Given the description of an element on the screen output the (x, y) to click on. 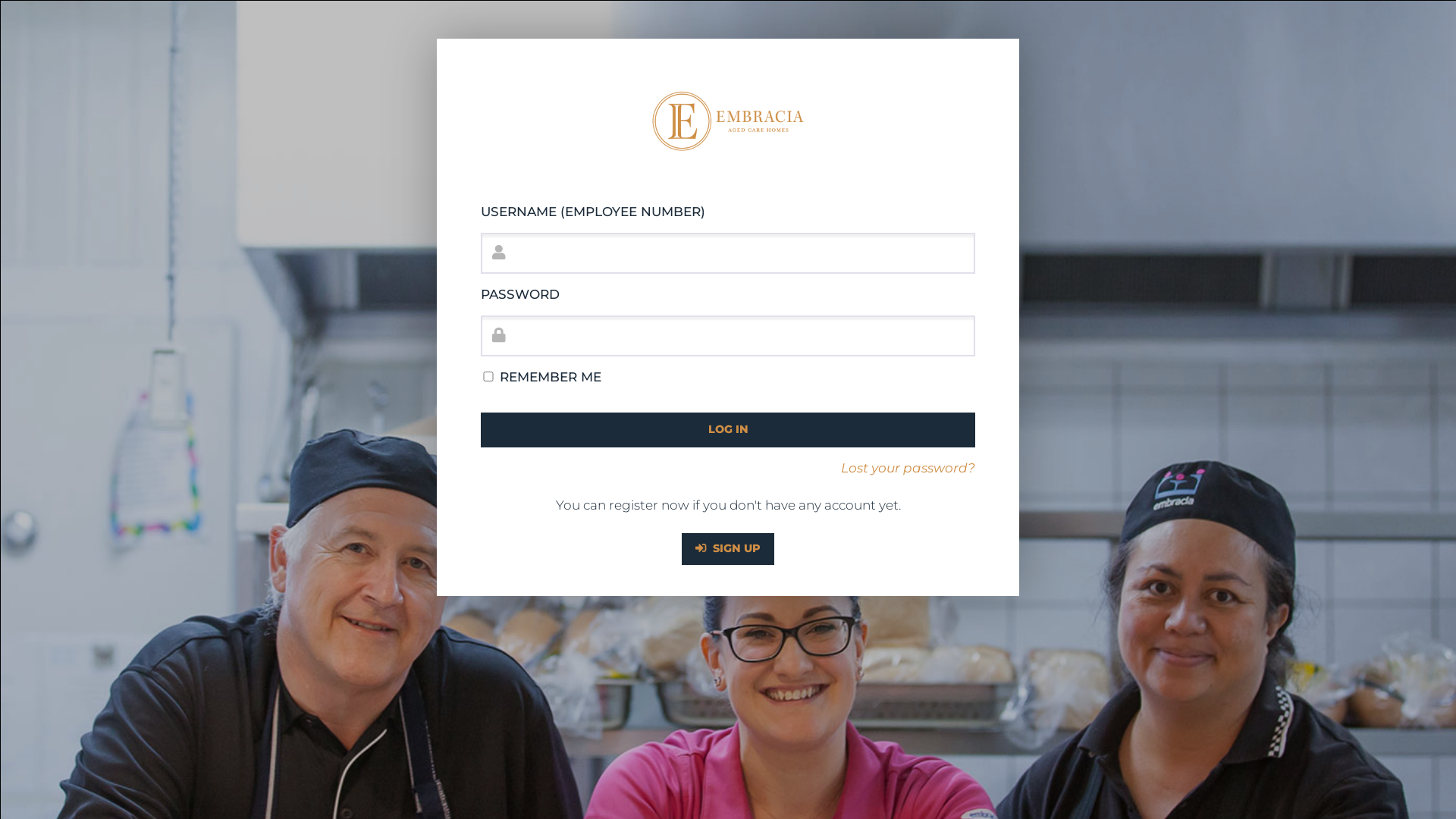
Lost your password? Element type: text (727, 468)
SIGN UP Element type: text (727, 548)
Log In Element type: text (727, 429)
